Given the description of an element on the screen output the (x, y) to click on. 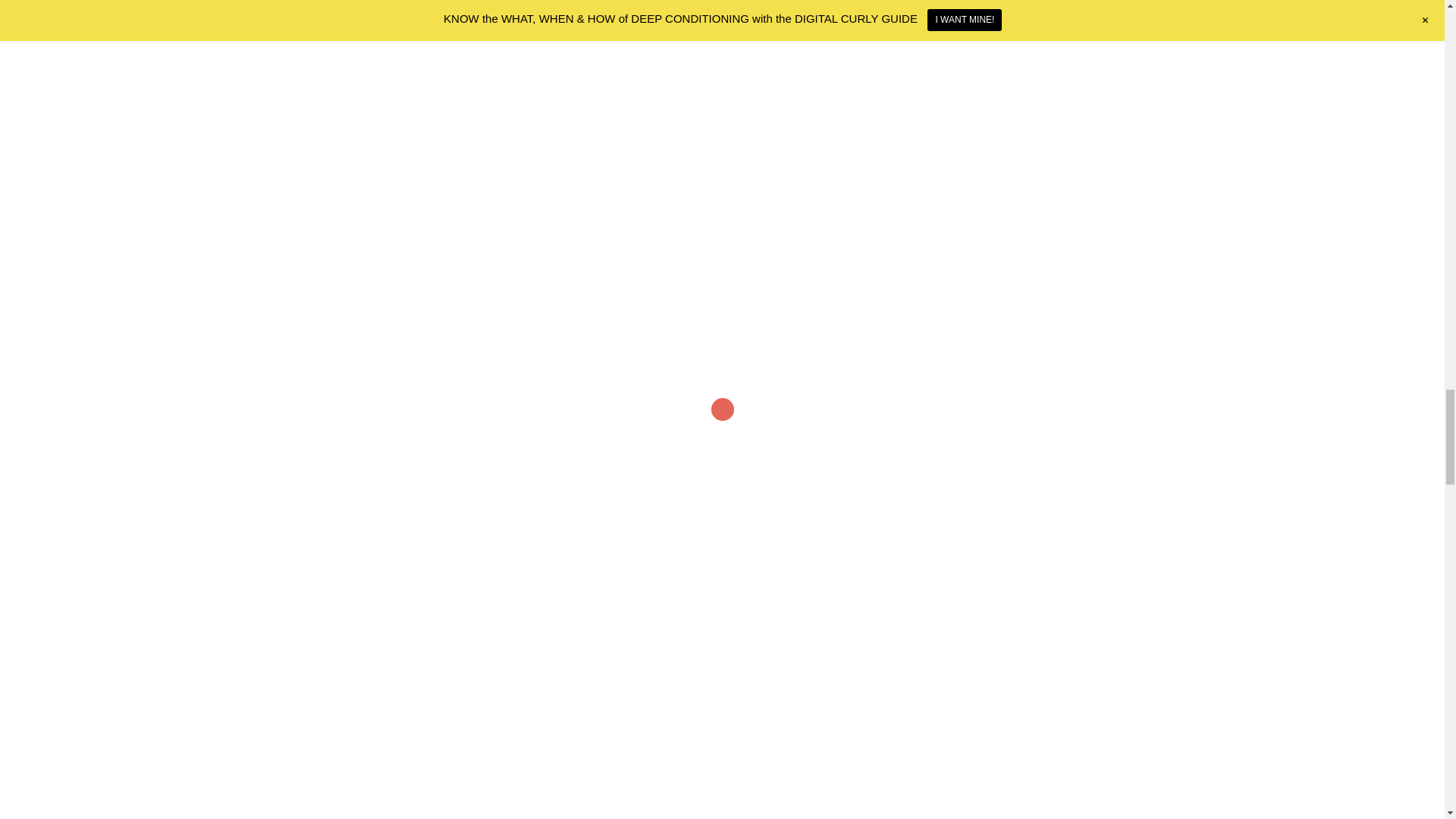
not doing any of these mistakes (472, 597)
The Curly Guide to Deep Conditioning (574, 649)
feels dry (371, 113)
DIY (700, 453)
